Given the description of an element on the screen output the (x, y) to click on. 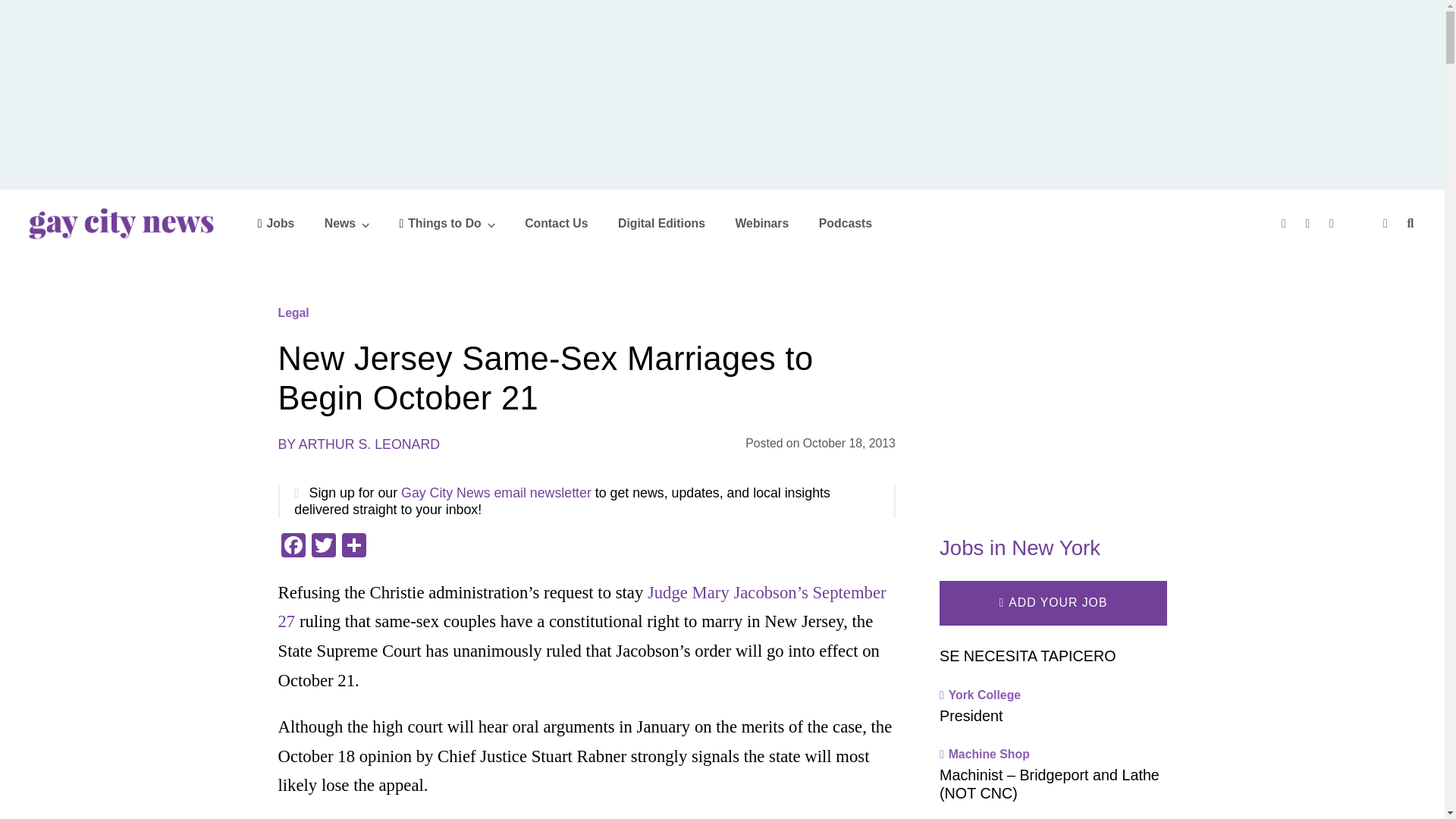
Digital Editions (660, 223)
Things to Do (446, 223)
Twitter (322, 547)
Podcasts (845, 223)
News (346, 223)
Webinars (762, 223)
Jobs (276, 223)
Facebook (292, 547)
Contact Us (556, 223)
